Given the description of an element on the screen output the (x, y) to click on. 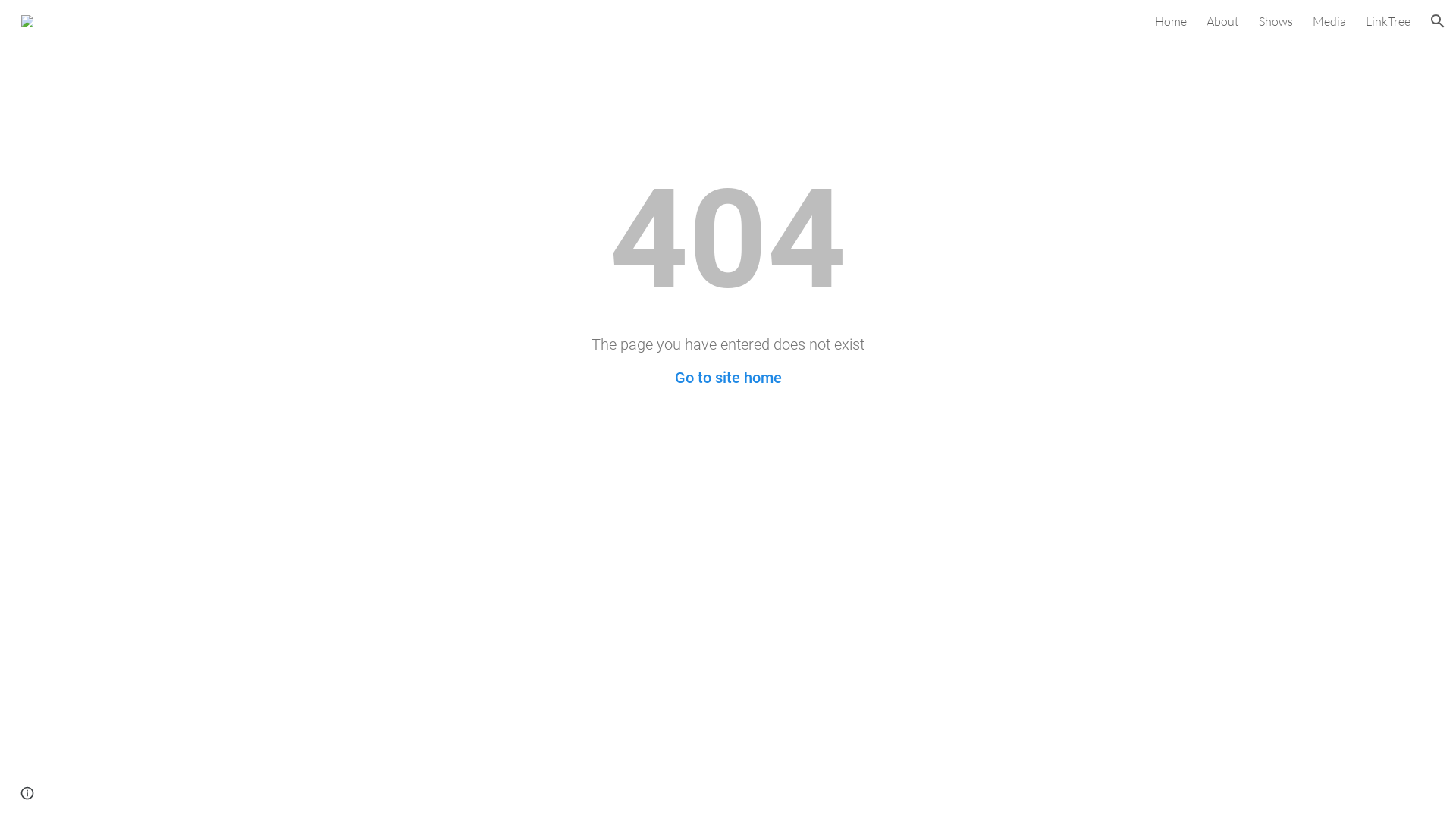
Go to site home Element type: text (727, 377)
Media Element type: text (1329, 20)
LinkTree Element type: text (1387, 20)
Home Element type: text (1170, 20)
Shows Element type: text (1275, 20)
About Element type: text (1222, 20)
